Given the description of an element on the screen output the (x, y) to click on. 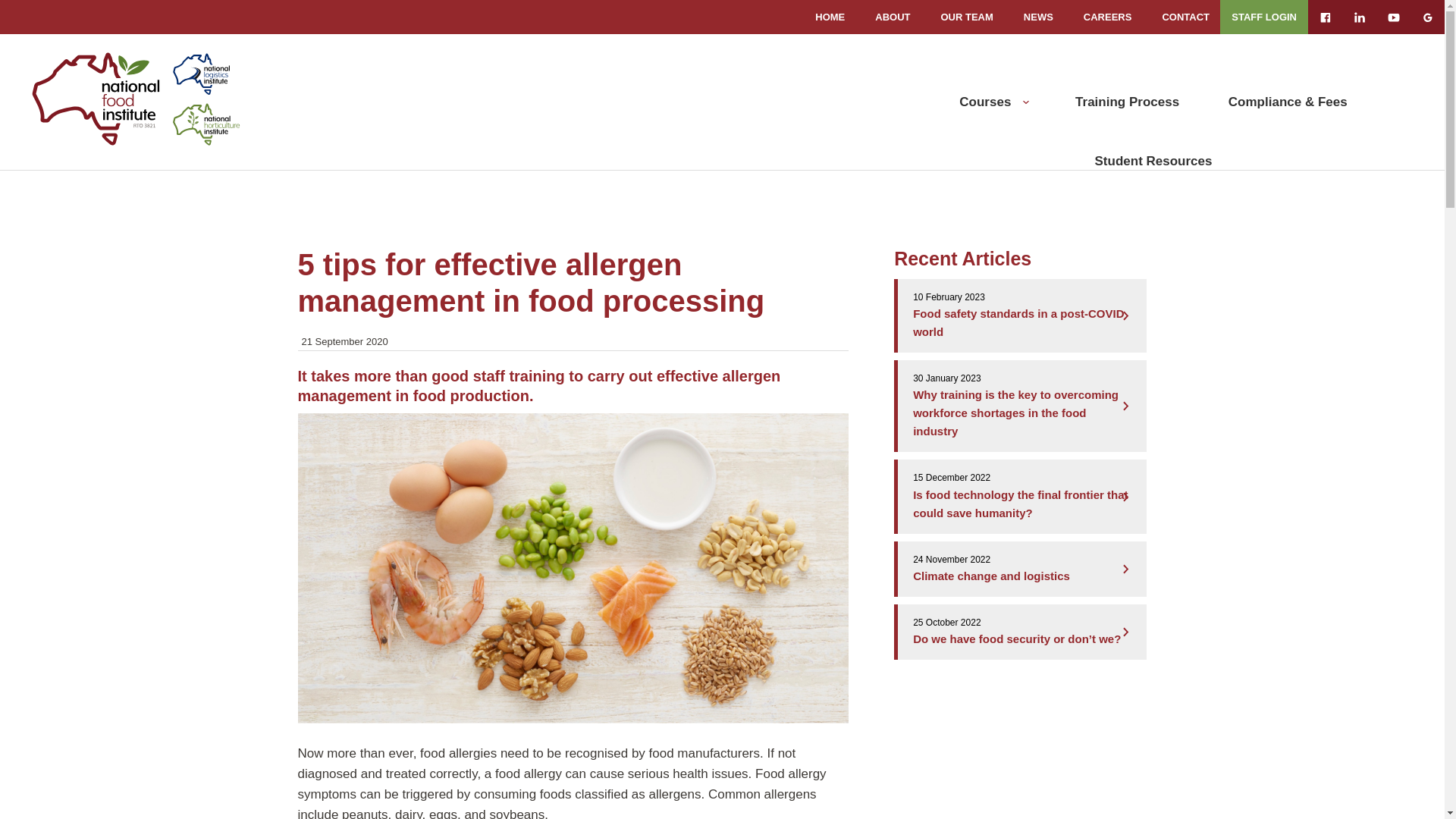
24 November 2022
Climate change and logistics Element type: text (1021, 568)
Courses Element type: text (984, 101)
10 February 2023
Food safety standards in a post-COVID world Element type: text (1021, 315)
STAFF LOGIN Element type: text (1264, 17)
OUR TEAM Element type: text (966, 17)
NEWS Element type: text (1038, 17)
Compliance & Fees Element type: text (1287, 101)
CAREERS Element type: text (1107, 17)
Student Resources Element type: text (1153, 161)
CONTACT Element type: text (1185, 17)
Training Process Element type: text (1126, 101)
HOME Element type: text (829, 17)
ABOUT Element type: text (892, 17)
